Given the description of an element on the screen output the (x, y) to click on. 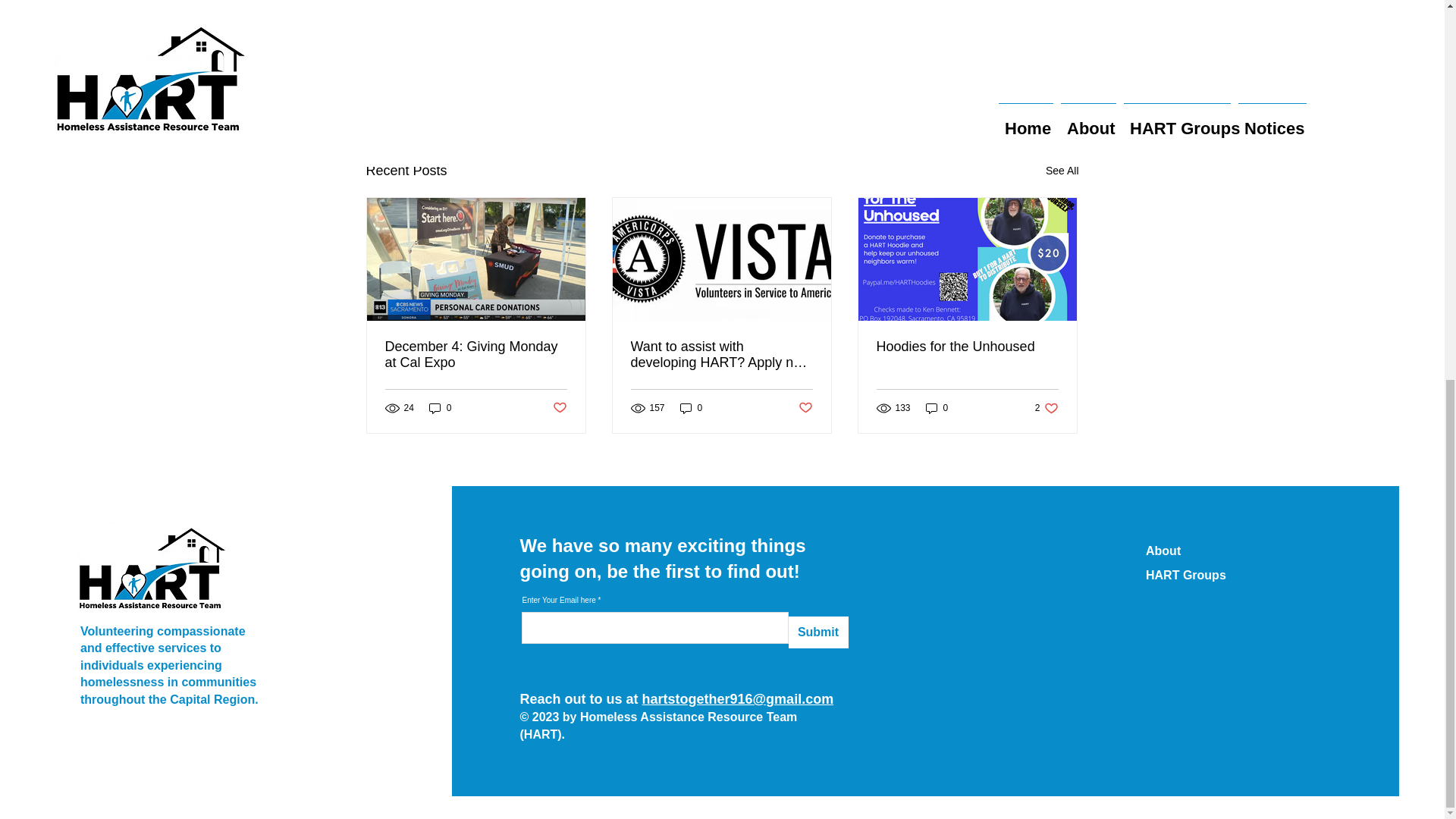
Post not marked as liked (804, 407)
0 (440, 408)
December 4: Giving Monday at Cal Expo (476, 355)
Post not marked as liked (558, 407)
Hoodies for the Unhoused (1046, 408)
0 (967, 346)
0 (691, 408)
See All (937, 408)
